Given the description of an element on the screen output the (x, y) to click on. 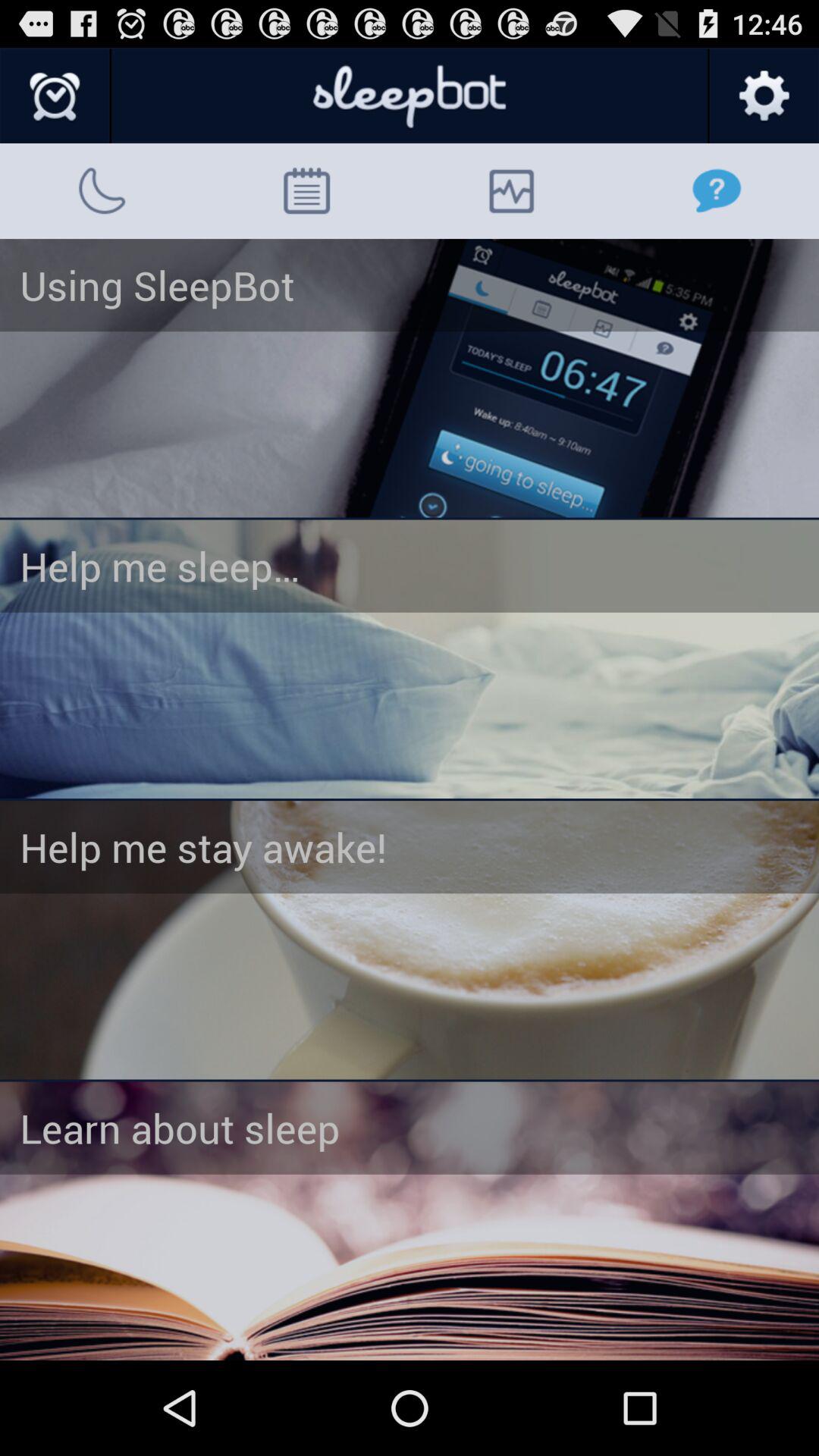
help me sleep (409, 658)
